Given the description of an element on the screen output the (x, y) to click on. 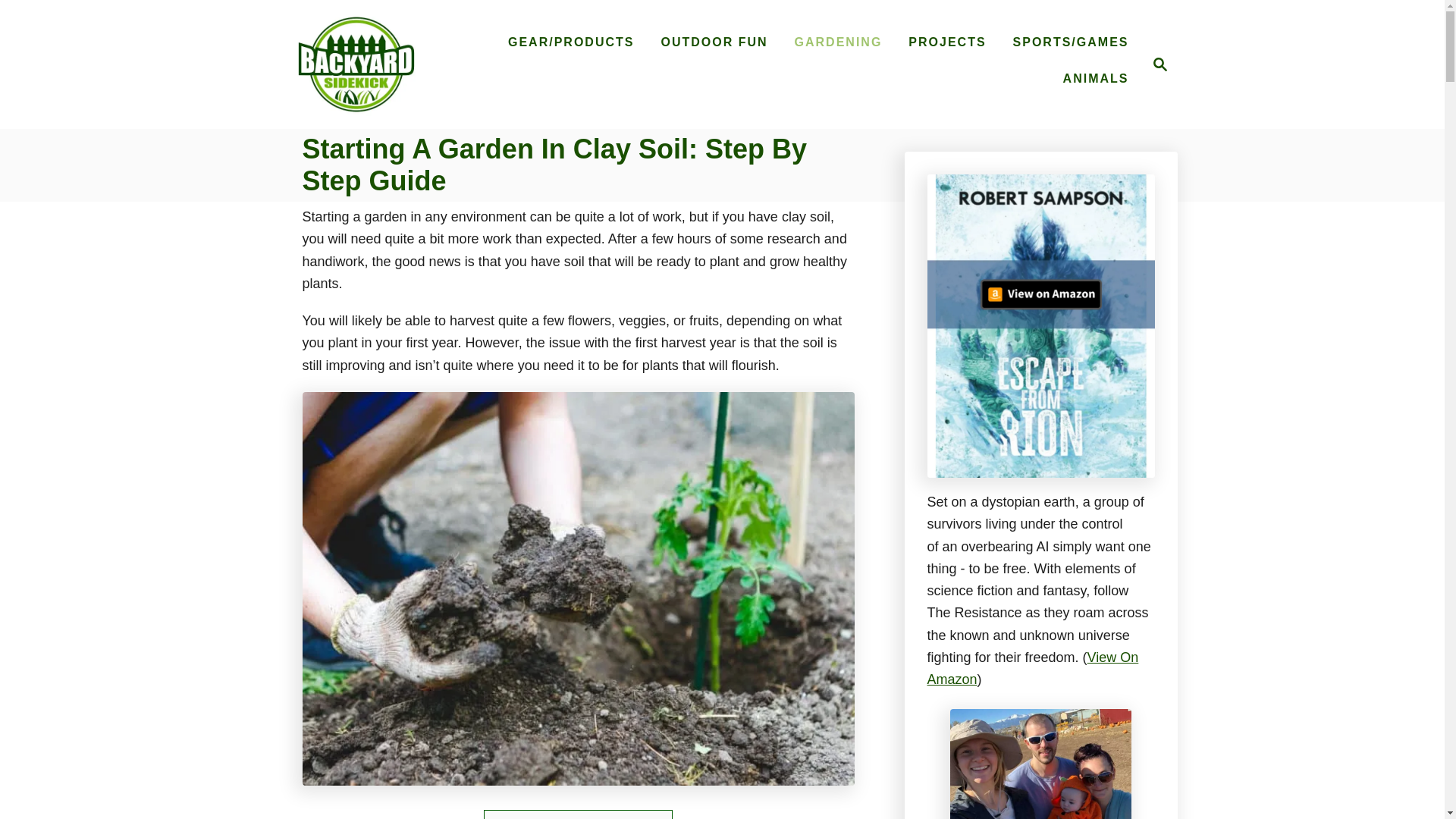
OUTDOOR FUN (713, 41)
Magnifying Glass (1160, 64)
GARDENING (838, 41)
ANIMALS (1096, 78)
Backyard Sidekick (355, 64)
PROJECTS (946, 41)
